Given the description of an element on the screen output the (x, y) to click on. 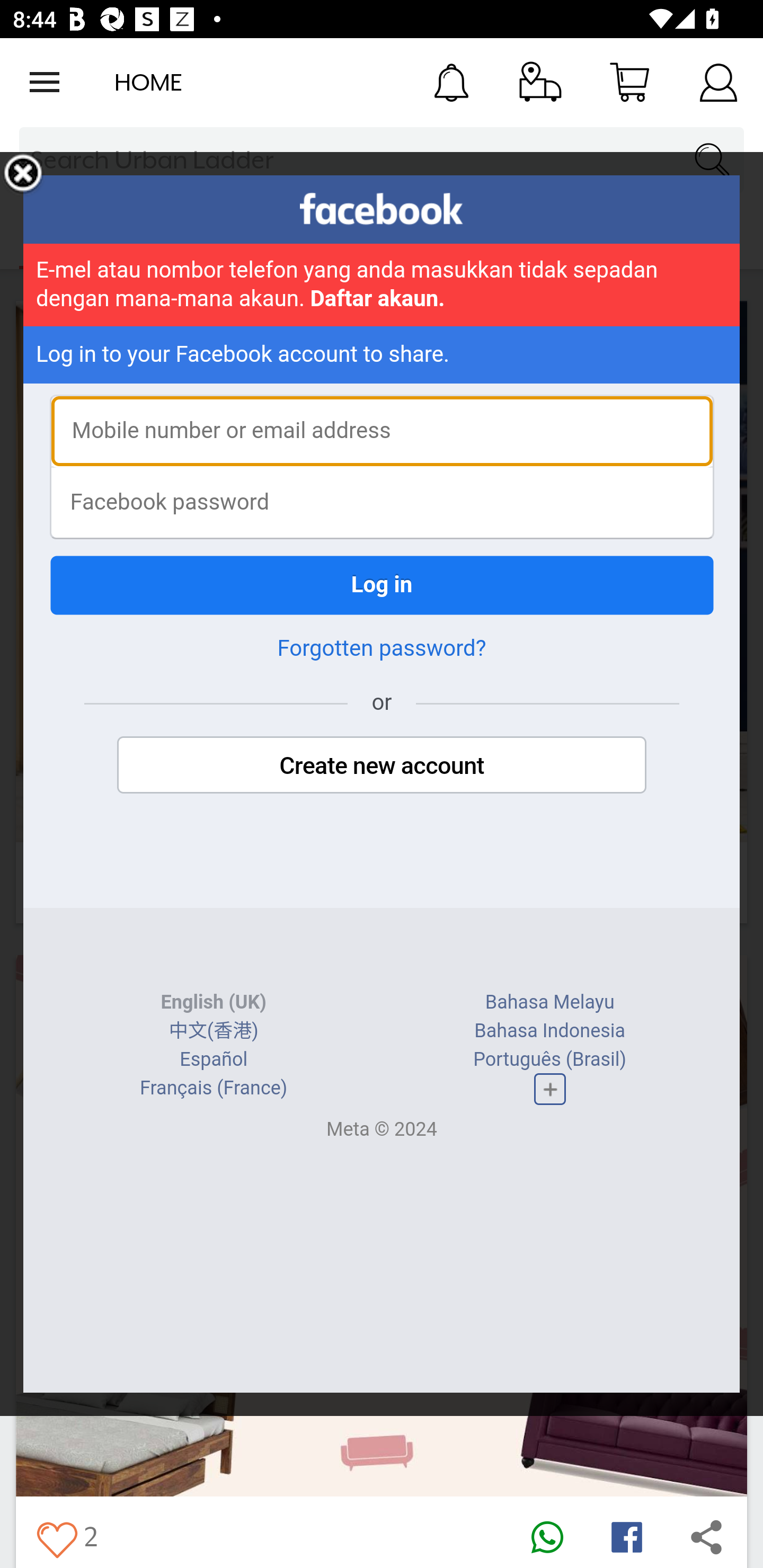
facebook (381, 208)
Daftar akaun. (377, 298)
Log in (381, 585)
Forgotten password? (381, 648)
Create new account (381, 764)
Bahasa Melayu (549, 1002)
中文(香港) (212, 1030)
Bahasa Indonesia (549, 1030)
Español (213, 1058)
Português (Brasil) (550, 1058)
Complete list of languages (548, 1088)
Français (France) (213, 1087)
